Given the description of an element on the screen output the (x, y) to click on. 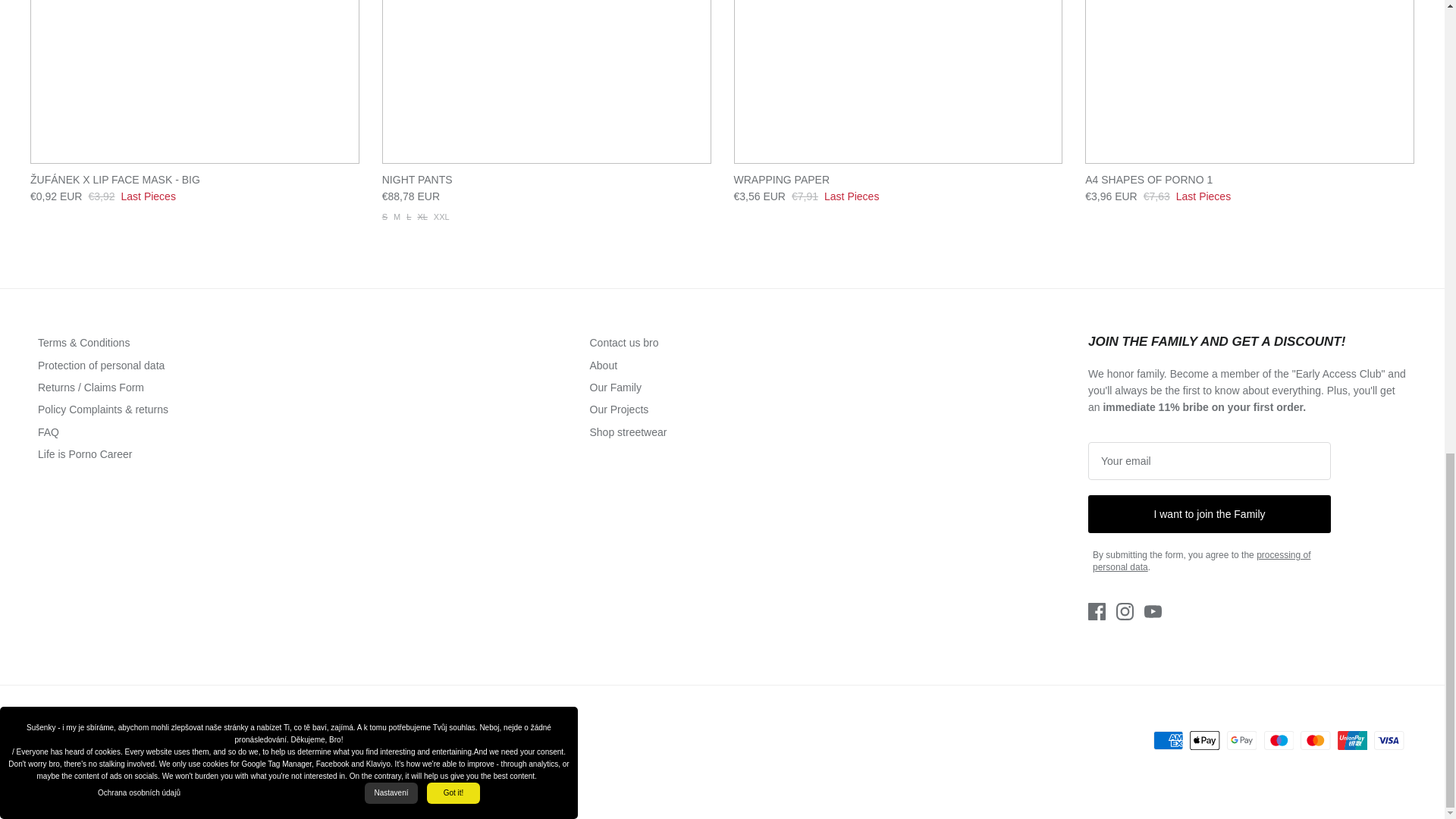
Apple Pay (1204, 740)
Mastercard (1315, 740)
Youtube (1152, 610)
Maestro (1277, 740)
Visa (1388, 740)
American Express (1168, 740)
Union Pay (1352, 740)
Google Pay (1241, 740)
Instagram (1125, 610)
Facebook (1096, 610)
